Given the description of an element on the screen output the (x, y) to click on. 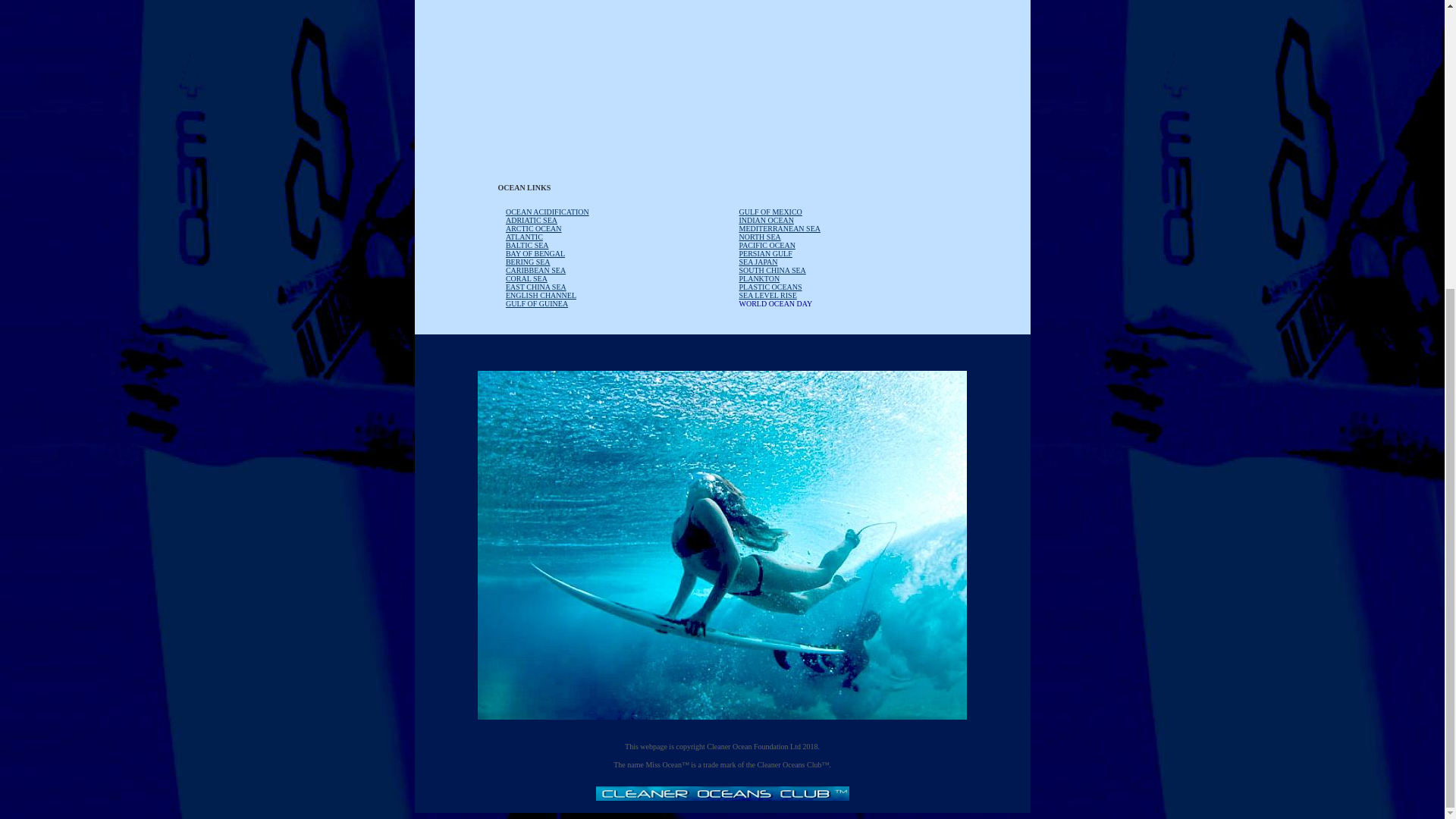
PLASTIC OCEANS (770, 285)
CARIBBEAN SEA (535, 268)
BALTIC SEA (526, 243)
SOUTH CHINA SEA (771, 268)
OCEAN ACIDIFICATION (547, 210)
SEA JAPAN (757, 259)
INDIAN OCEAN (765, 218)
PERSIAN GULF (765, 251)
ATLANTIC (524, 235)
BAY OF BENGAL (534, 251)
ENGLISH CHANNEL (540, 293)
MEDITERRANEAN SEA (779, 226)
EAST CHINA SEA (535, 285)
GULF OF MEXICO (770, 210)
SEA LEVEL RISE (767, 293)
